Given the description of an element on the screen output the (x, y) to click on. 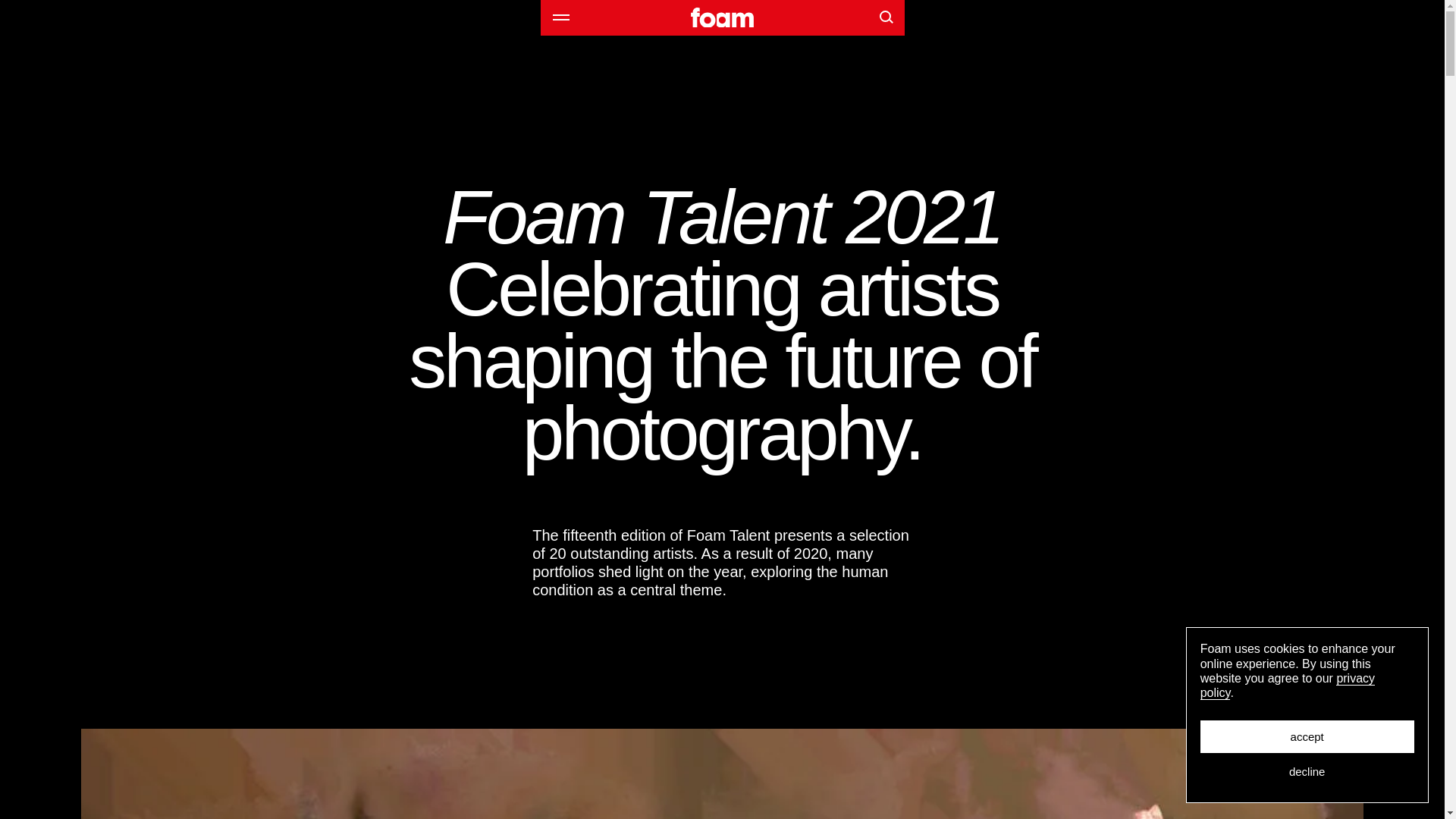
decline (1306, 771)
accept (1306, 736)
